Given the description of an element on the screen output the (x, y) to click on. 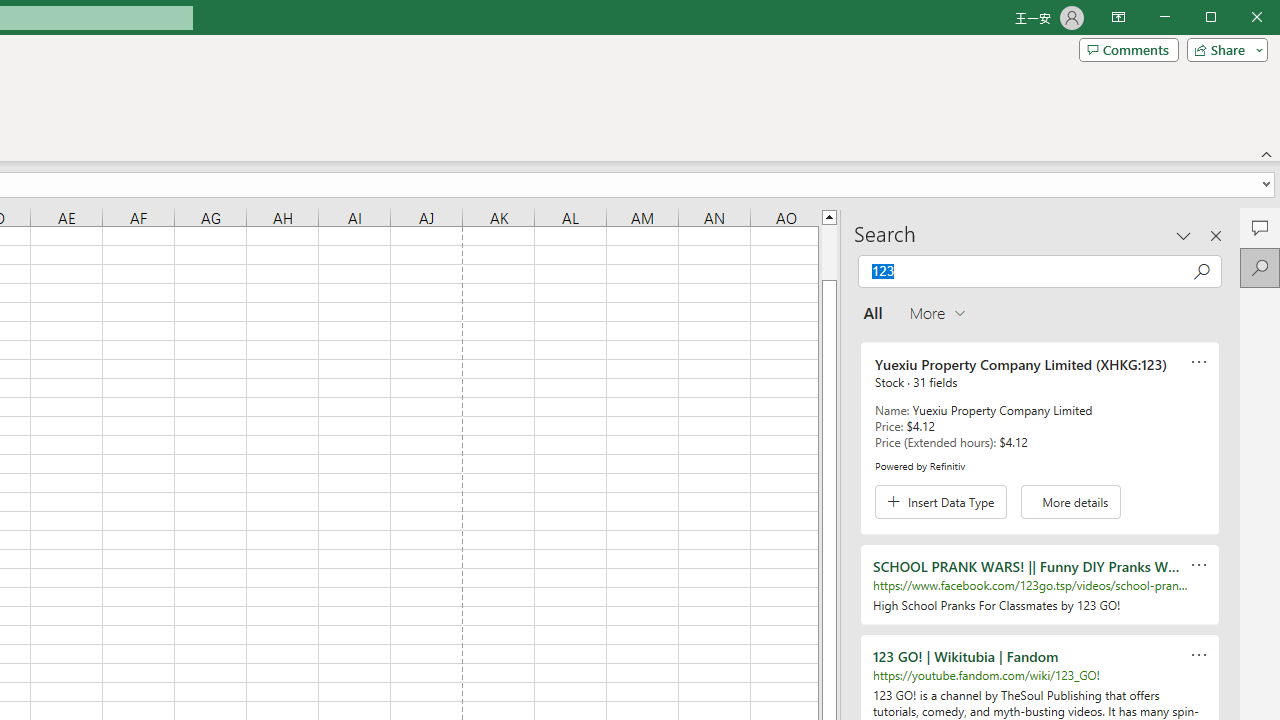
Maximize (1239, 18)
Search (1260, 267)
Page up (829, 252)
